Given the description of an element on the screen output the (x, y) to click on. 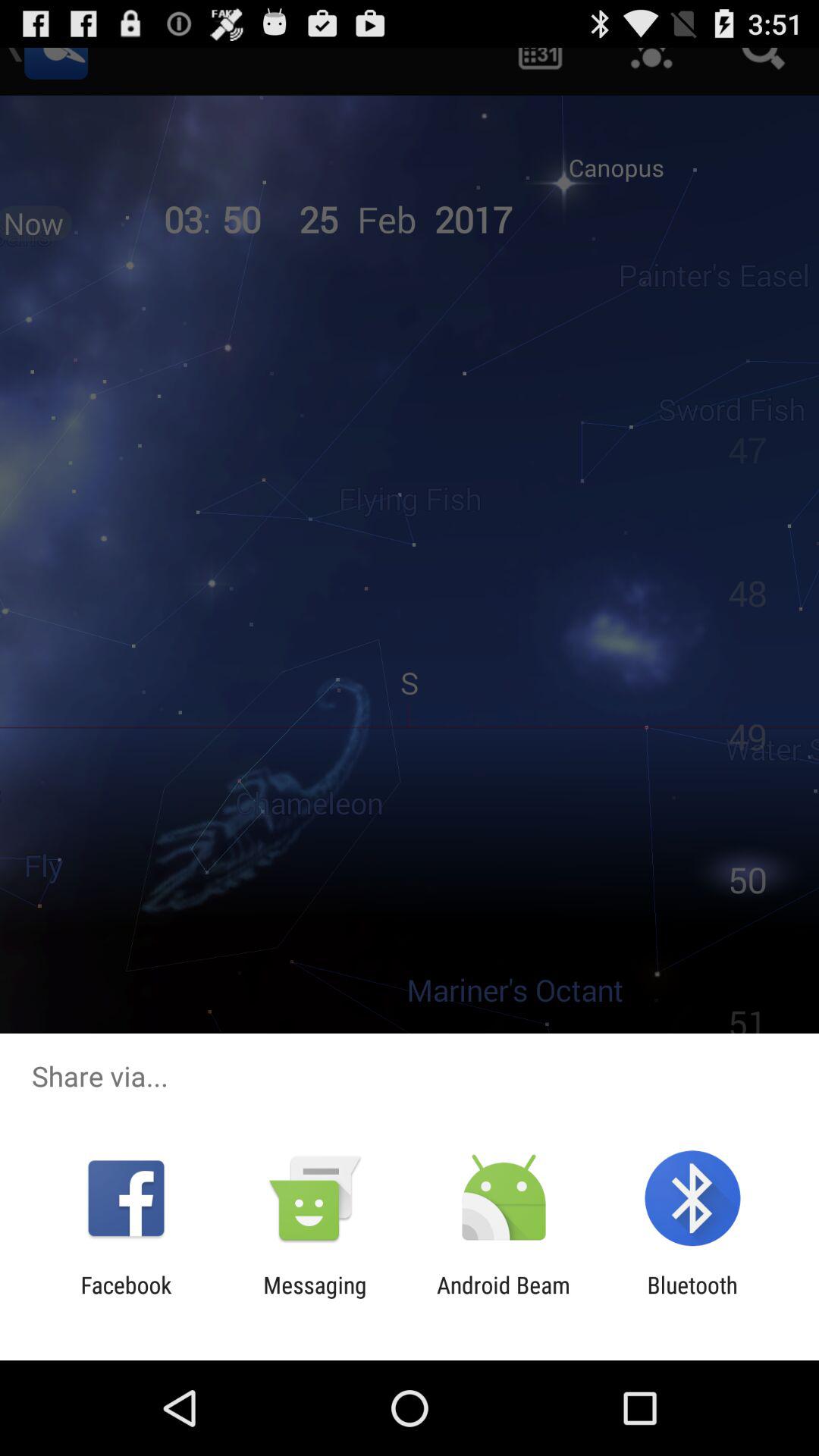
swipe until android beam app (503, 1298)
